Given the description of an element on the screen output the (x, y) to click on. 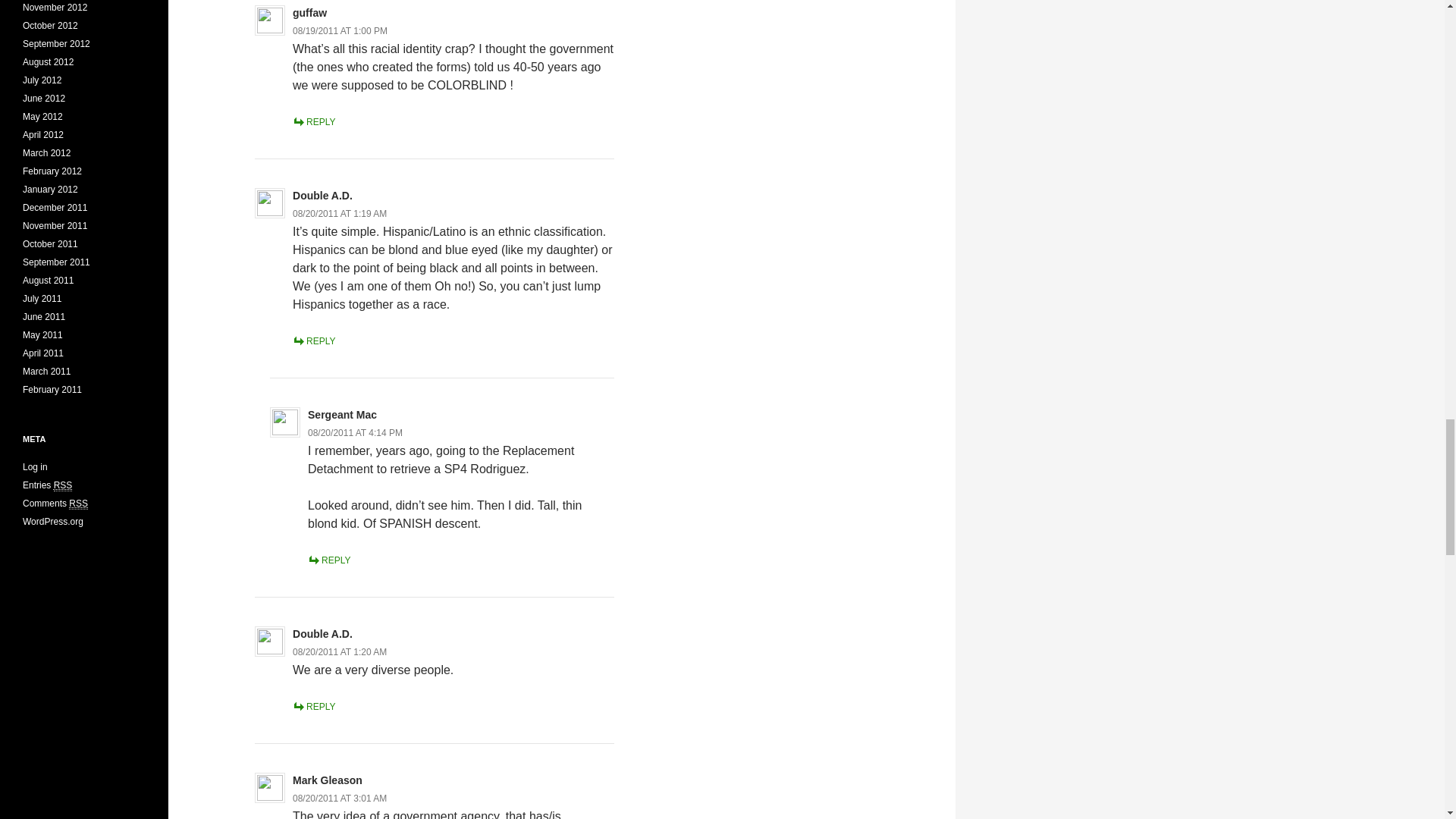
Really Simple Syndication (77, 503)
guffaw (309, 12)
Really Simple Syndication (62, 485)
REPLY (313, 122)
